Given the description of an element on the screen output the (x, y) to click on. 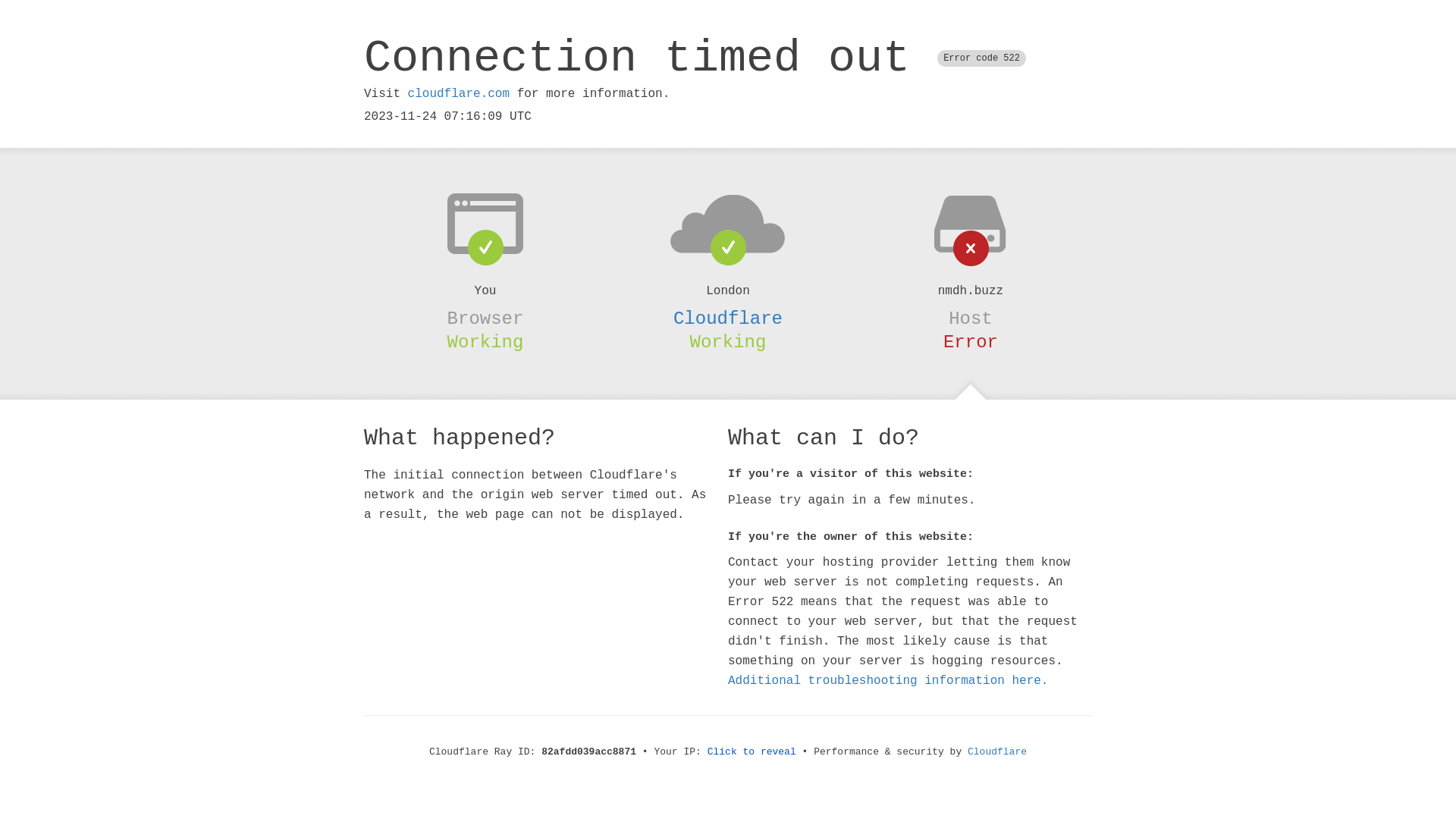
Cloudflare Element type: text (996, 751)
Cloudflare Element type: text (727, 318)
cloudflare.com Element type: text (458, 93)
Click to reveal Element type: text (751, 751)
Additional troubleshooting information here. Element type: text (888, 680)
